Given the description of an element on the screen output the (x, y) to click on. 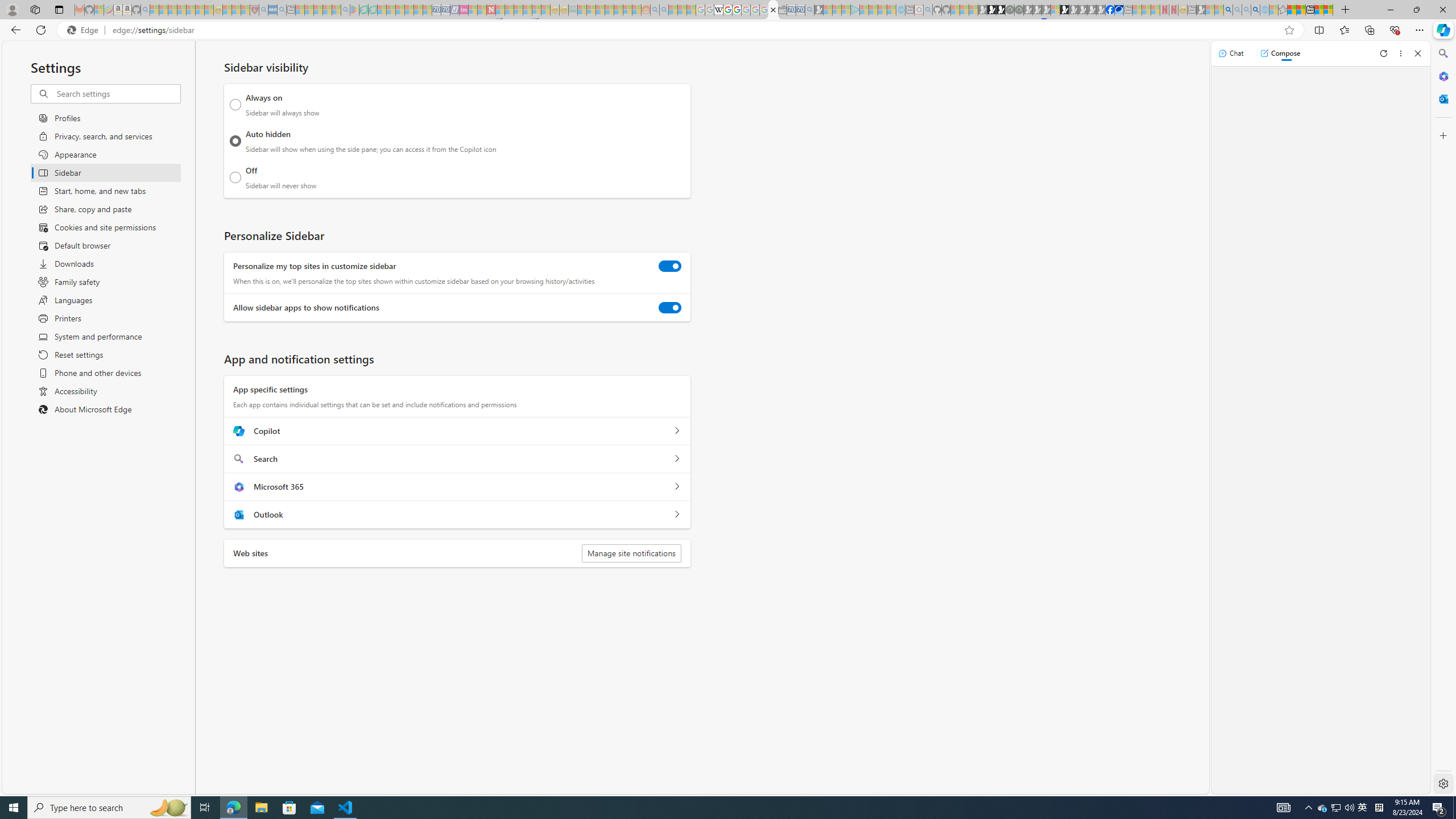
Expert Portfolios - Sleeping (608, 9)
Edge (84, 29)
Off Sidebar will never show (235, 177)
